Given the description of an element on the screen output the (x, y) to click on. 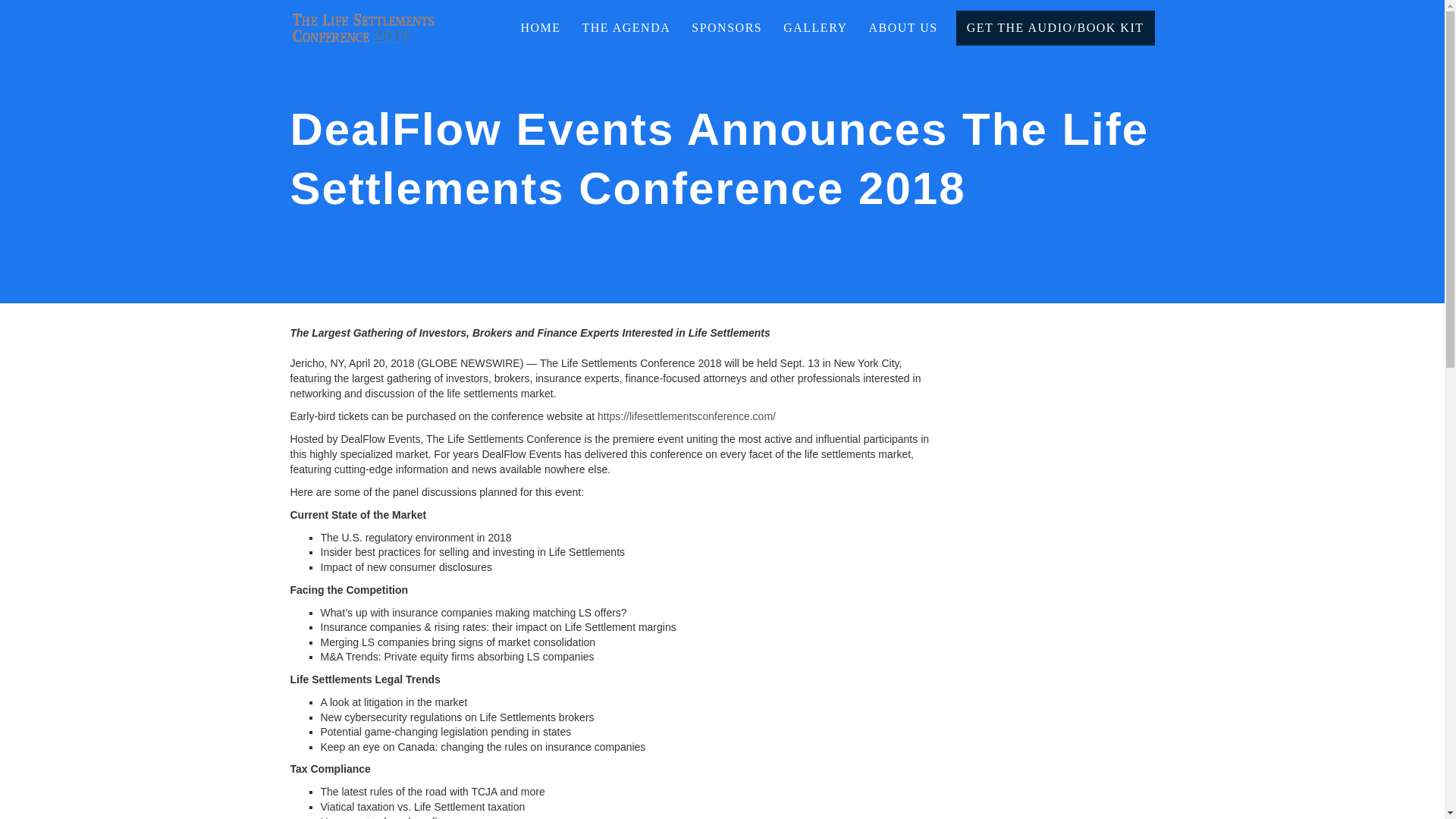
ABOUT US (902, 27)
Gallery (815, 27)
Sponsors (727, 27)
Home (539, 27)
The Life Settlements Conference 2019 (363, 18)
HOME (539, 27)
THE AGENDA (626, 27)
About Us (902, 27)
SPONSORS (727, 27)
The Agenda (626, 27)
GALLERY (815, 27)
